Given the description of an element on the screen output the (x, y) to click on. 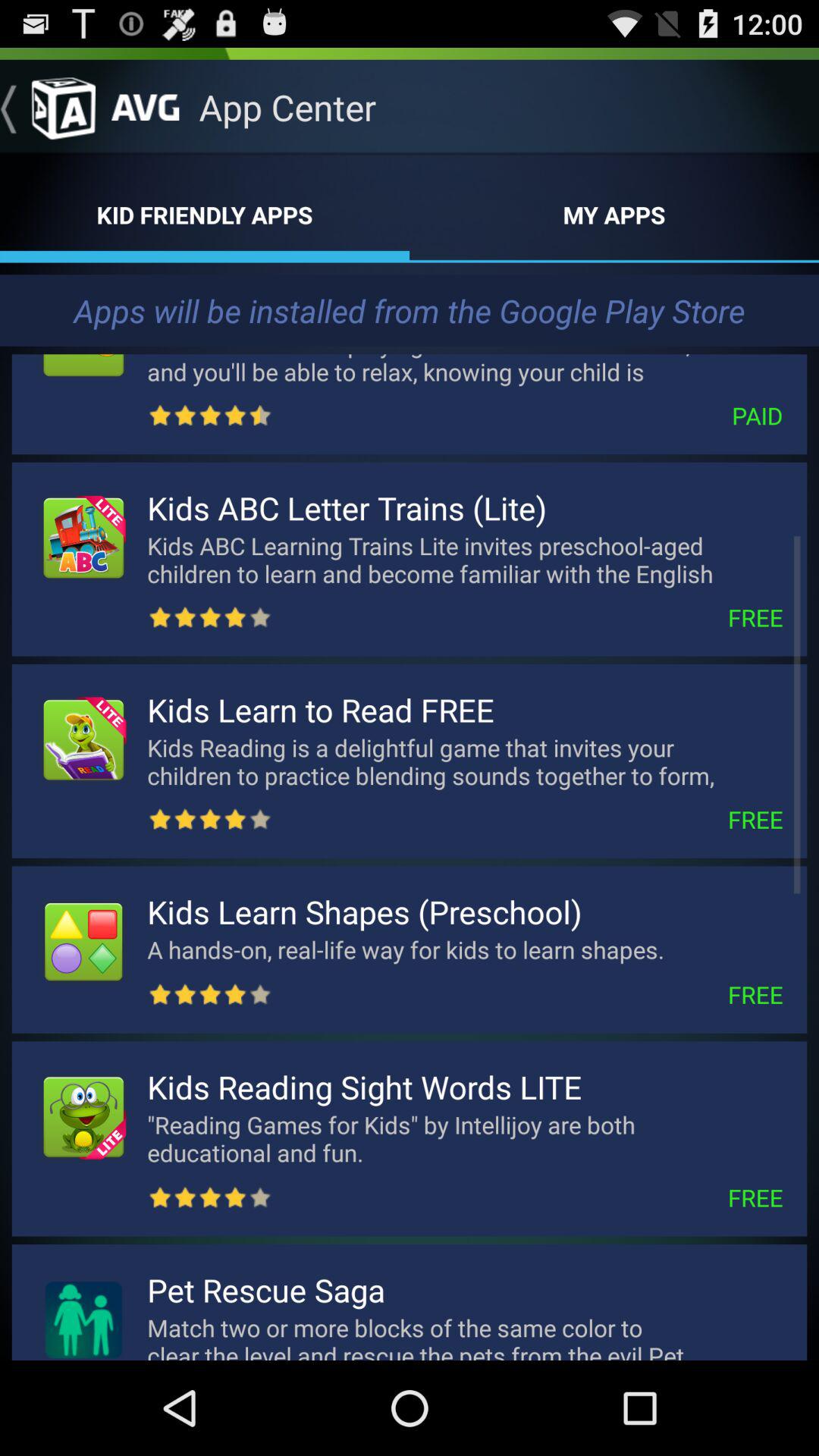
open match two or (465, 1335)
